Given the description of an element on the screen output the (x, y) to click on. 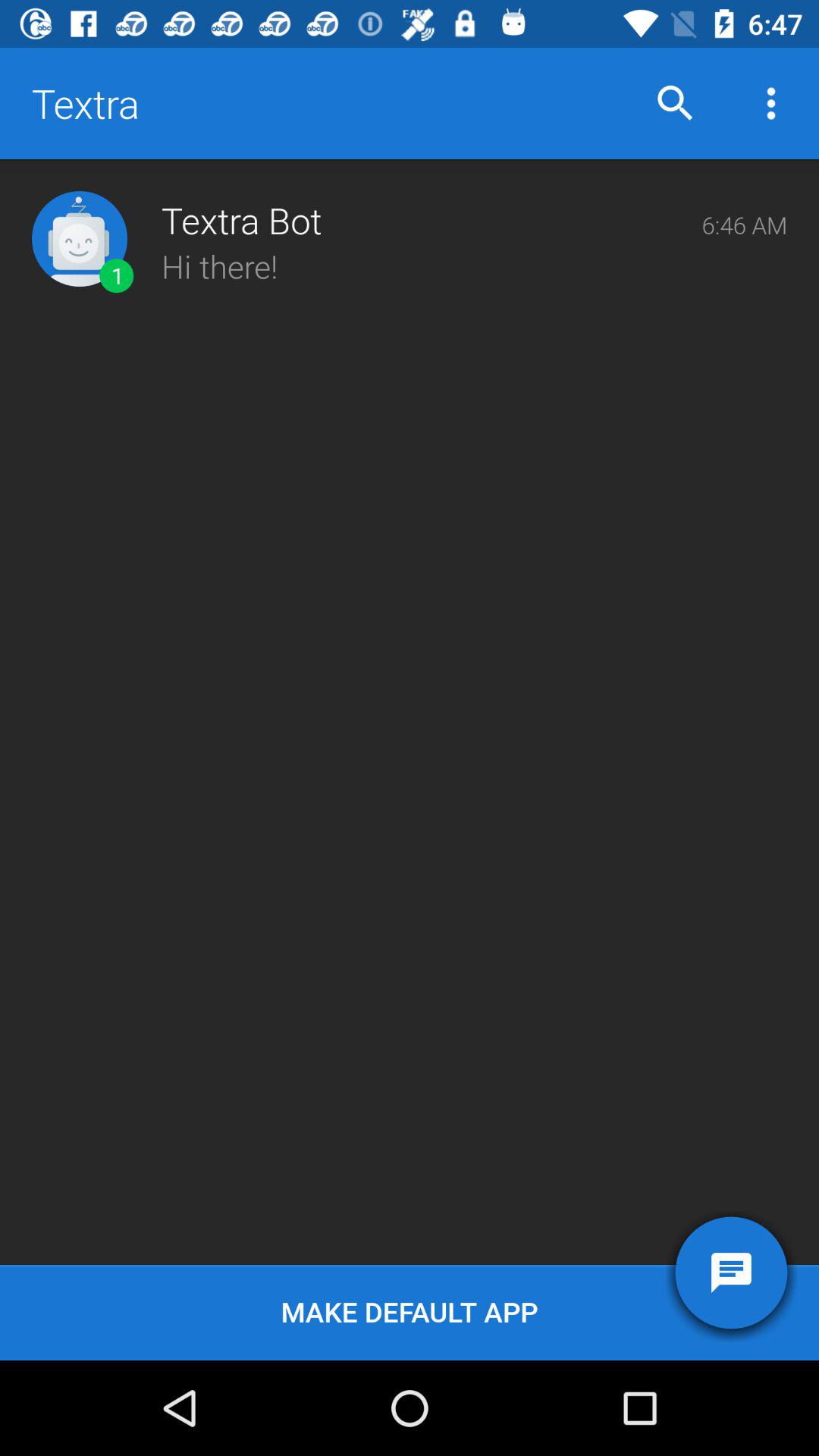
open make default app item (409, 1312)
